Given the description of an element on the screen output the (x, y) to click on. 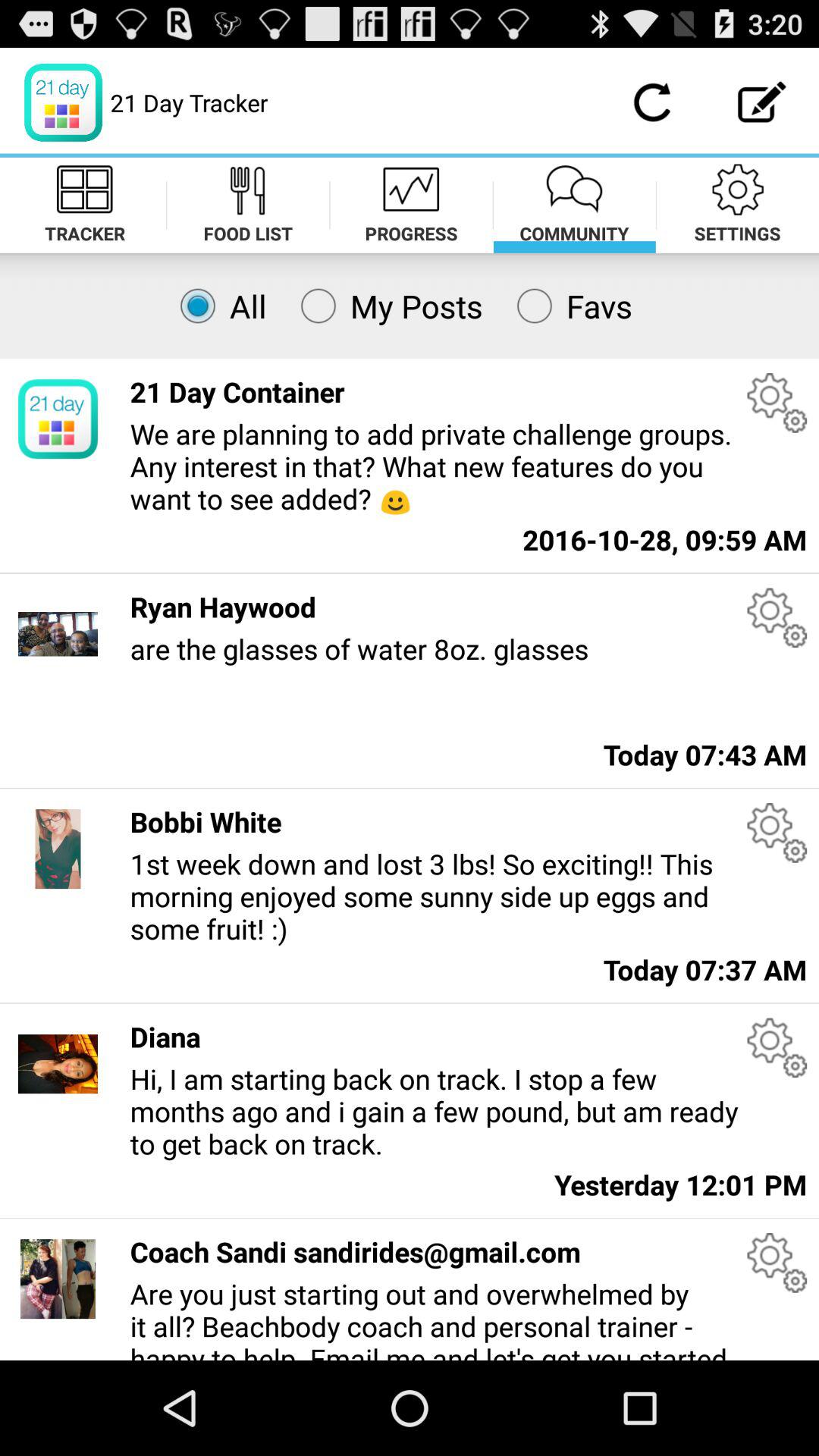
refresh the page (651, 102)
